Given the description of an element on the screen output the (x, y) to click on. 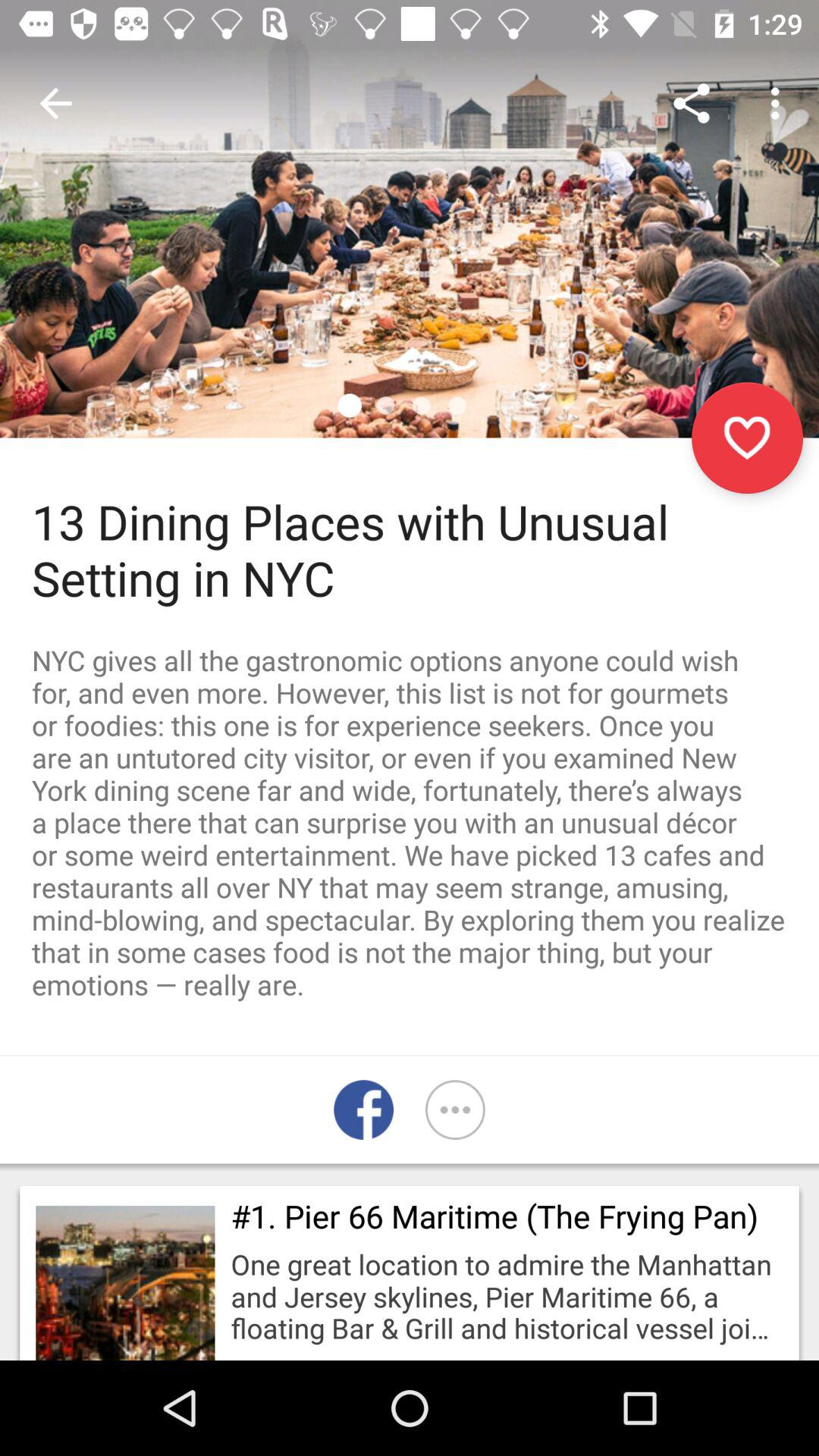
turn off item below the 13 dining places (409, 822)
